Given the description of an element on the screen output the (x, y) to click on. 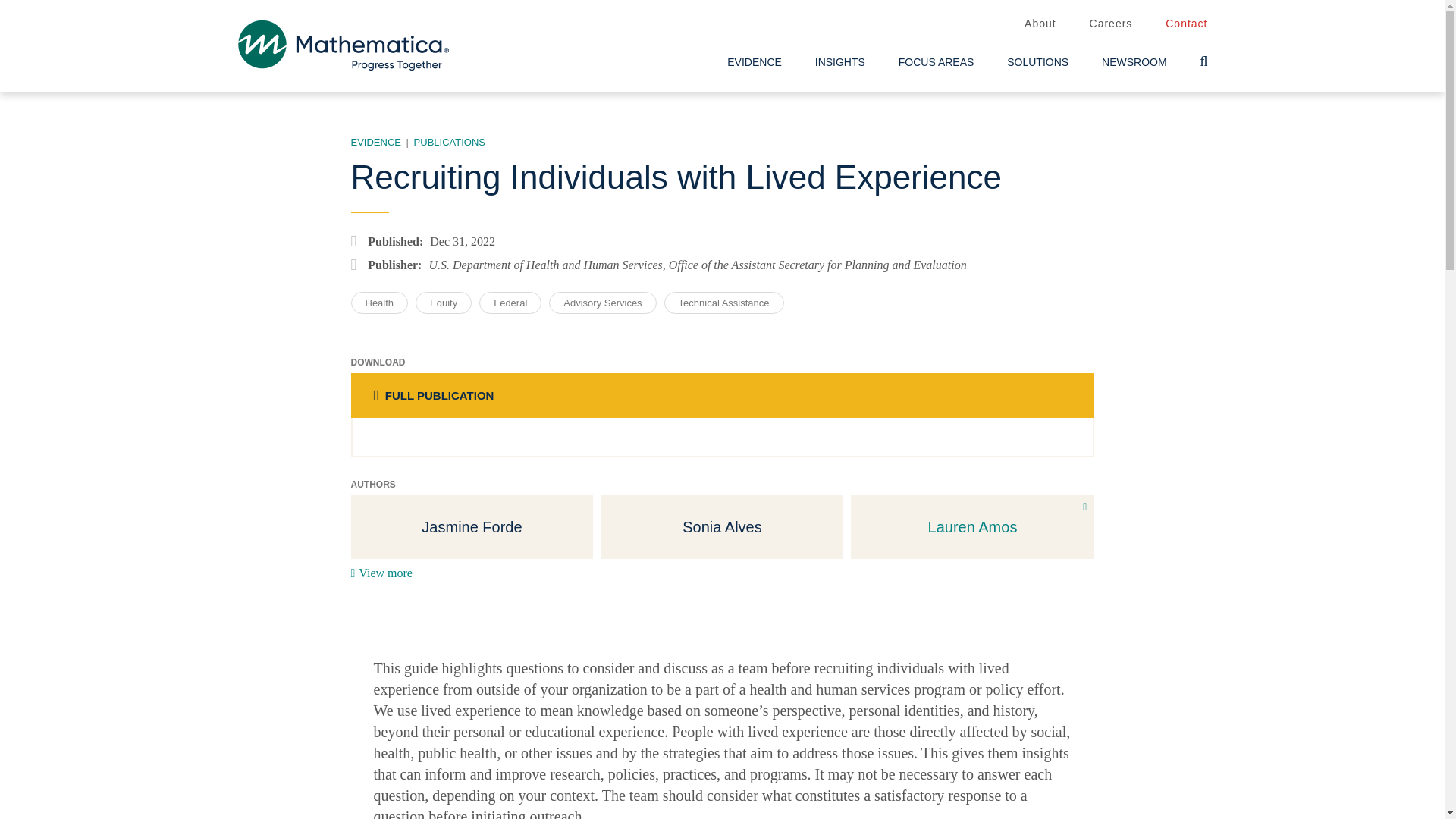
Careers (1110, 23)
SOLUTIONS (1037, 62)
EVIDENCE (753, 62)
About (1041, 23)
FOCUS AREAS (936, 62)
INSIGHTS (839, 62)
Contact (1186, 23)
NEWSROOM (1134, 62)
